Given the description of an element on the screen output the (x, y) to click on. 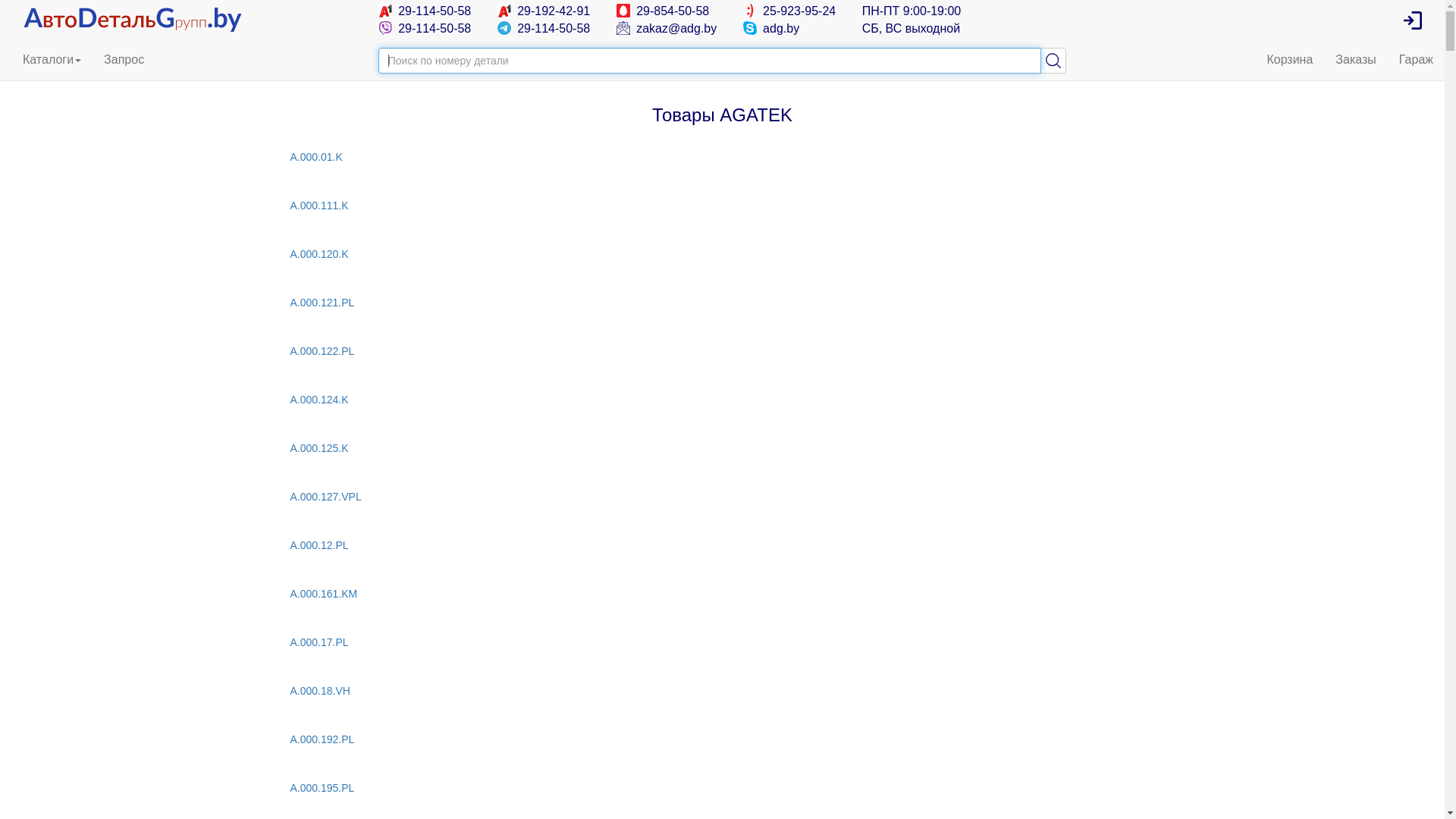
29-114-50-58 Element type: text (424, 27)
A.000.17.PL Element type: text (721, 642)
A.000.195.PL Element type: text (721, 787)
A.000.01.K Element type: text (721, 156)
29-192-42-91 Element type: text (543, 10)
A.000.161.KM Element type: text (721, 593)
A.000.192.PL Element type: text (721, 739)
zakaz@adg.by Element type: text (666, 27)
29-114-50-58 Element type: text (424, 10)
A.000.127.VPL Element type: text (721, 496)
A.000.18.VH Element type: text (721, 690)
25-923-95-24 Element type: text (789, 10)
A.000.122.PL Element type: text (721, 350)
A.000.12.PL Element type: text (721, 545)
29-854-50-58 Element type: text (662, 10)
A.000.125.K Element type: text (721, 447)
A.000.111.K Element type: text (721, 205)
A.000.120.K Element type: text (721, 253)
A.000.124.K Element type: text (721, 399)
adg.by Element type: text (771, 27)
A.000.121.PL Element type: text (721, 302)
29-114-50-58 Element type: text (543, 27)
